Given the description of an element on the screen output the (x, y) to click on. 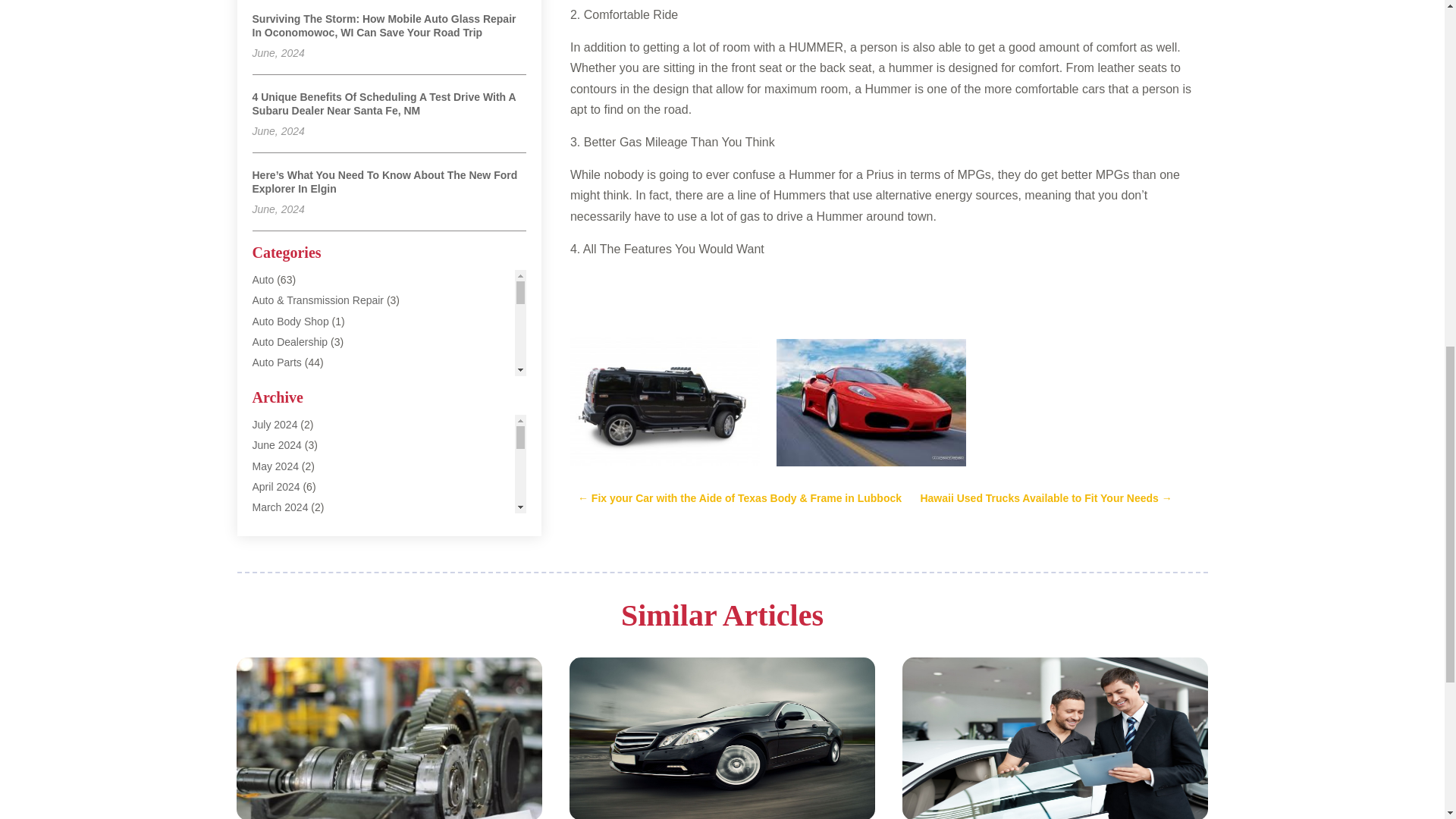
Auto Dealership (289, 341)
Car Dealership (286, 609)
Autos (265, 548)
Car Restoration Service (308, 692)
Auto Body Shop (290, 321)
Automobile Maintenance (309, 465)
Auto Repair Shop (293, 403)
Car Rental (276, 651)
Auto Repair (279, 382)
Car Dealer (276, 589)
Auto Parts (276, 362)
Automotive (277, 485)
Car Repair (276, 671)
